Given the description of an element on the screen output the (x, y) to click on. 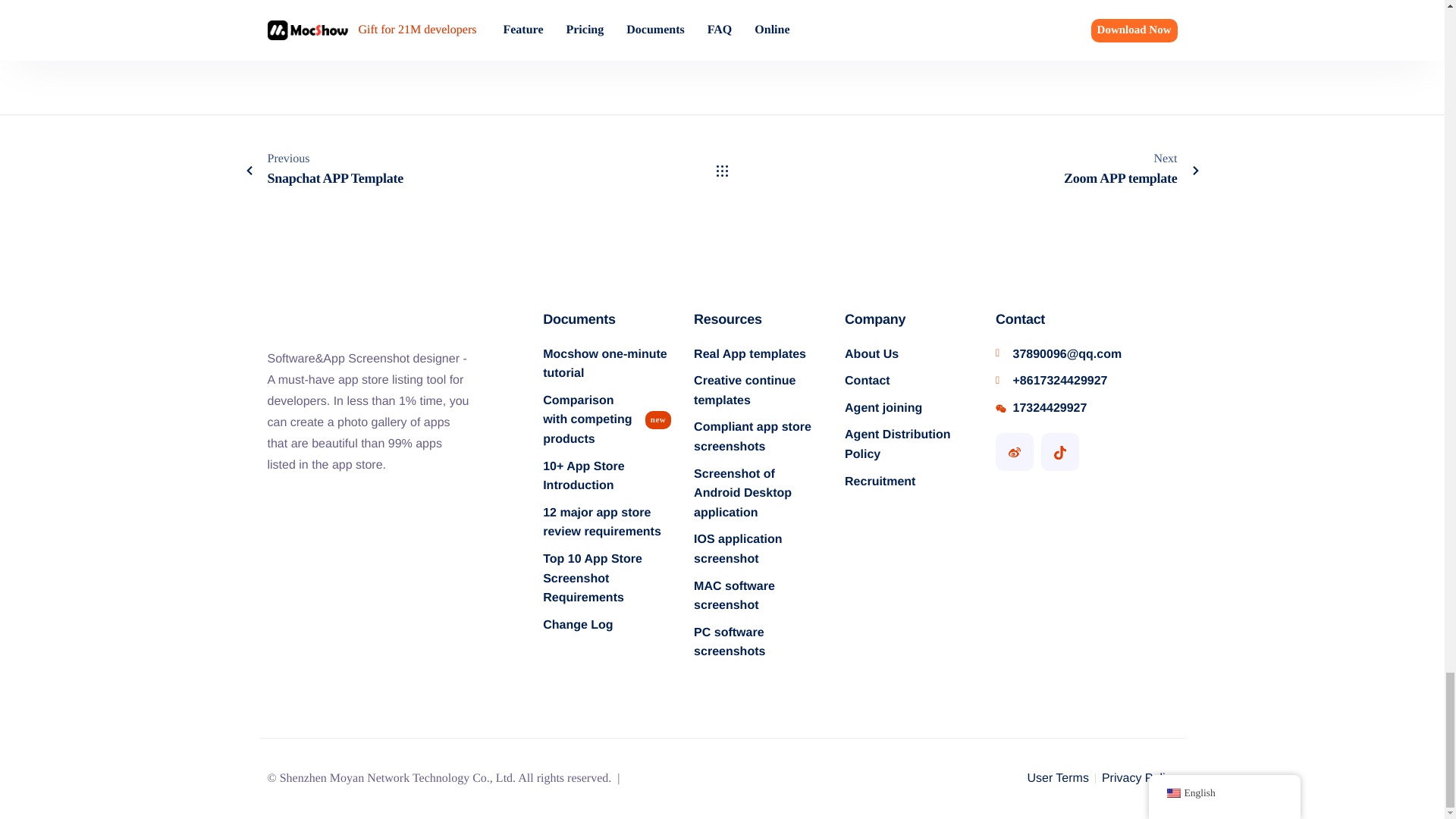
APP TEMPLATE SCREENSHOT (337, 4)
APP TEMPLATE SCREENSHOT (571, 4)
Uber APP Template (555, 28)
Taobao APP template (794, 28)
Taio APP template (1018, 28)
Zoom APP template (323, 28)
Uber APP Template (555, 28)
APP TEMPLATE SCREENSHOT (804, 4)
Taio APP template (1018, 28)
Taobao APP template (794, 28)
APP TEMPLATE SCREENSHOT (1037, 4)
Zoom APP template (448, 171)
